Given the description of an element on the screen output the (x, y) to click on. 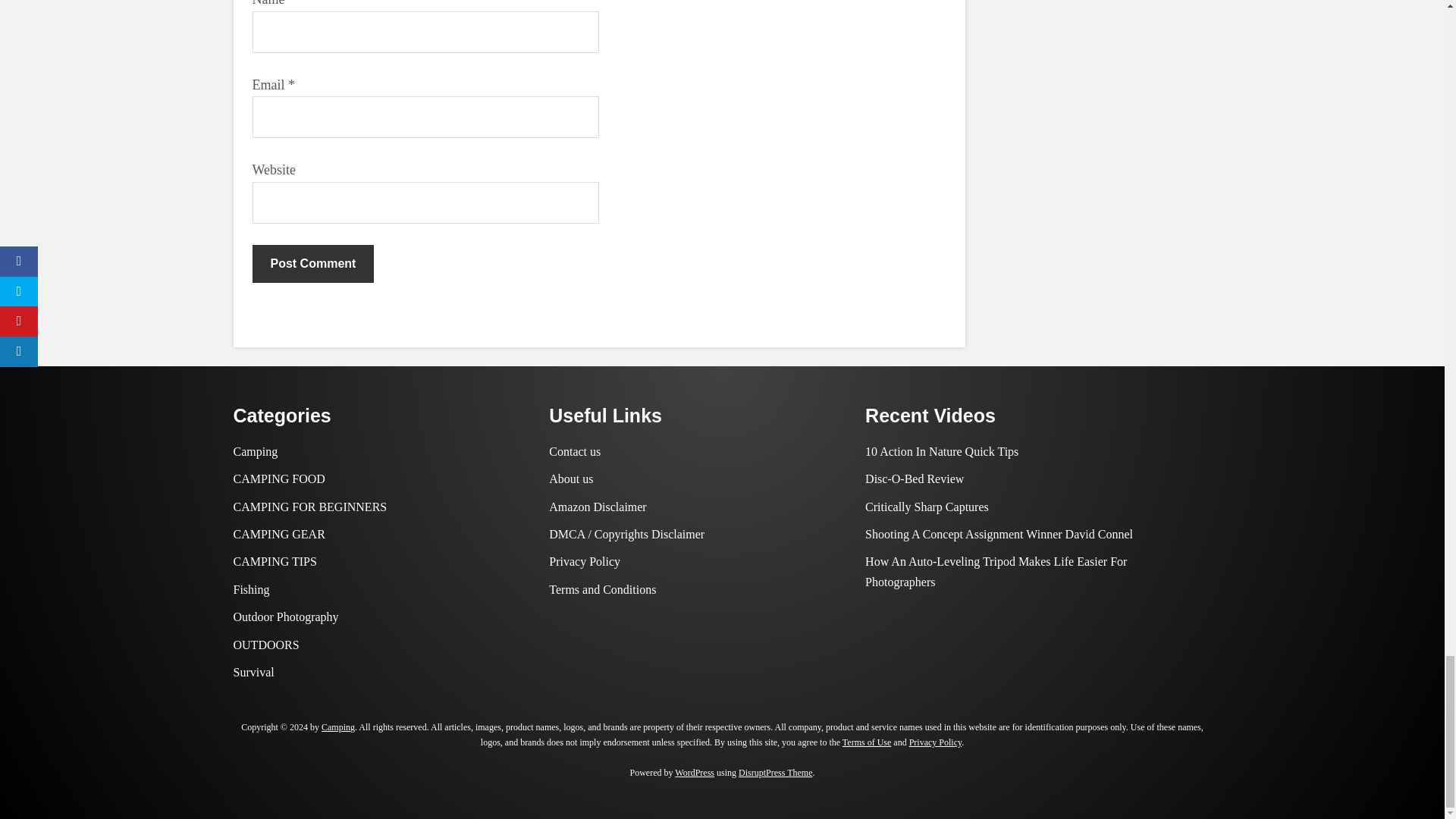
Post Comment (312, 263)
